Given the description of an element on the screen output the (x, y) to click on. 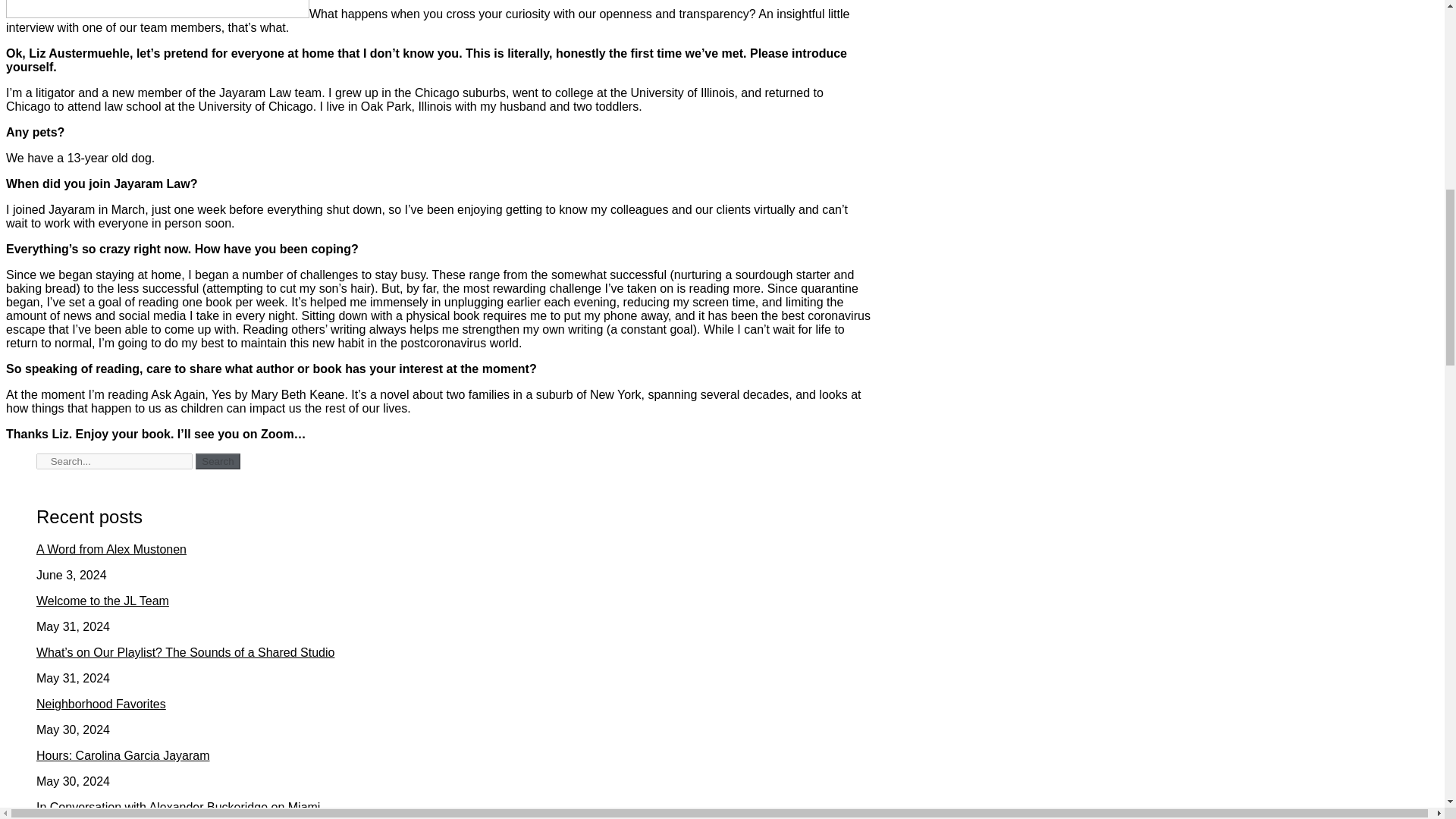
Welcome to the JL Team (102, 600)
In Conversation with Alexander Buckeridge on Miami (178, 807)
Search (114, 461)
Search (217, 461)
Hours: Carolina Garcia Jayaram (122, 755)
Neighborhood Favorites (100, 703)
Search (217, 461)
A Word from Alex Mustonen (111, 549)
